Given the description of an element on the screen output the (x, y) to click on. 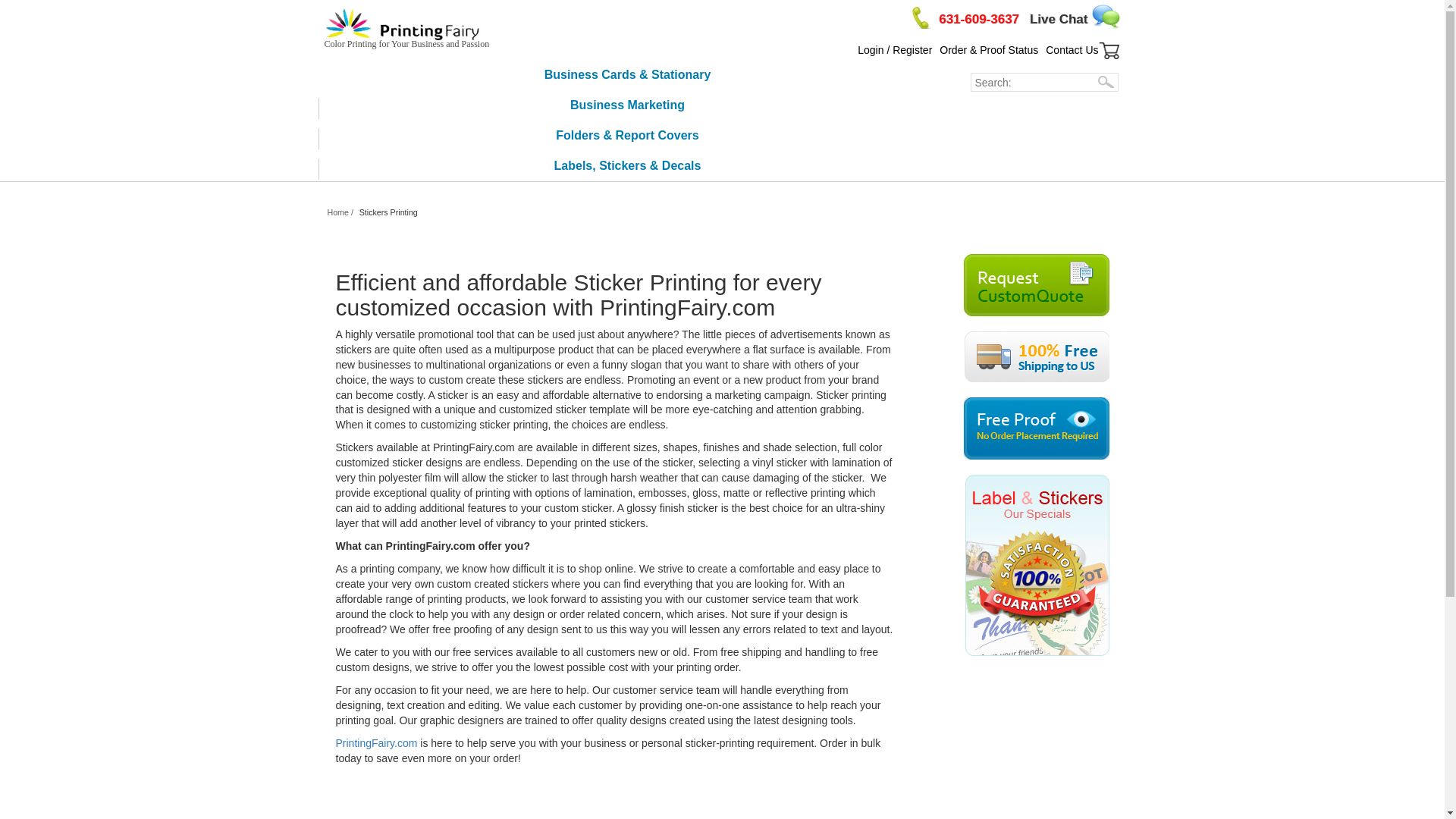
Contact Us (1071, 49)
Business Marketing (622, 105)
Color Printing for Your Business and Passion (406, 31)
